Given the description of an element on the screen output the (x, y) to click on. 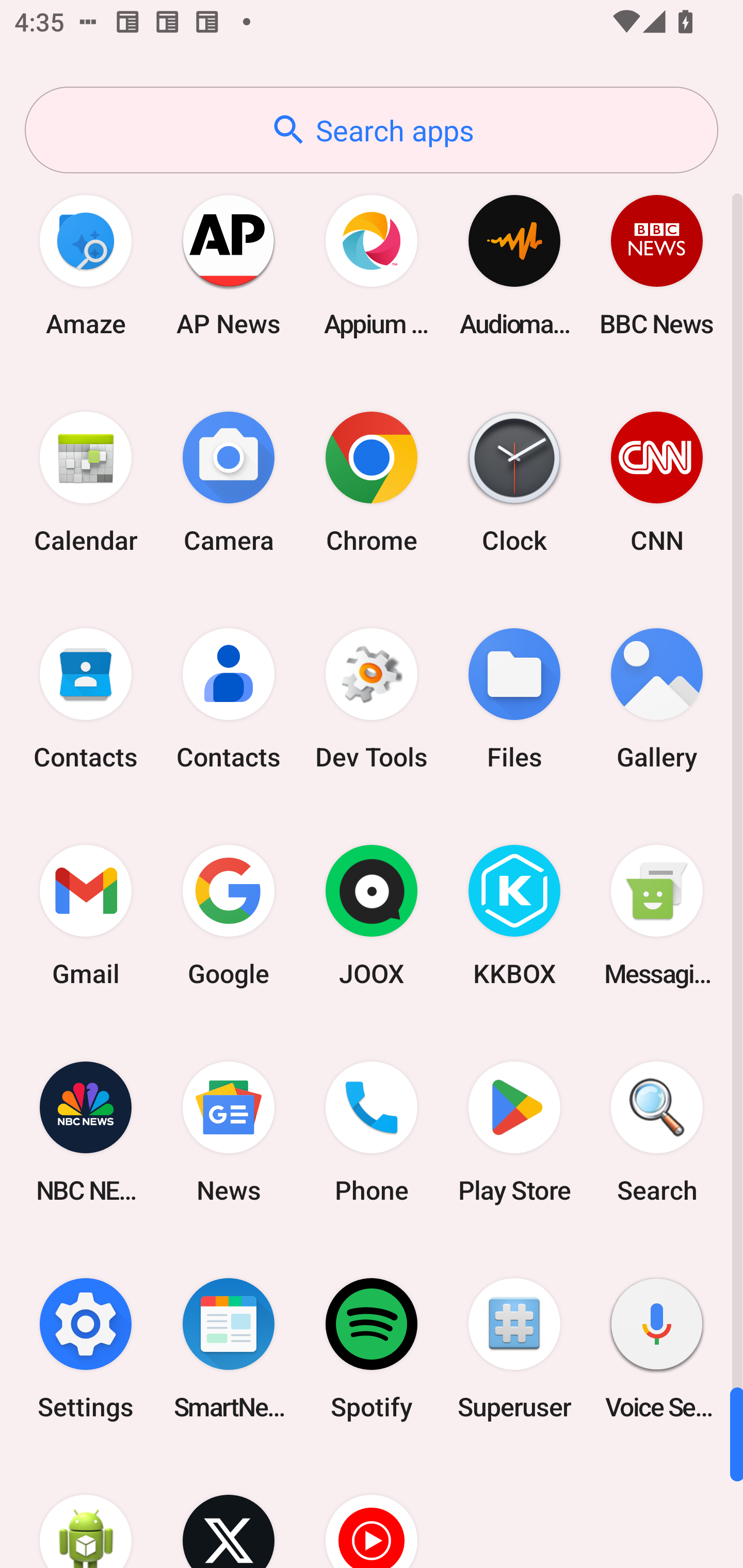
  Search apps (371, 130)
Amaze (85, 264)
AP News (228, 264)
Appium Settings (371, 264)
Audio­mack (514, 264)
BBC News (656, 264)
Calendar (85, 482)
Camera (228, 482)
Chrome (371, 482)
Clock (514, 482)
CNN (656, 482)
Contacts (85, 699)
Contacts (228, 699)
Dev Tools (371, 699)
Files (514, 699)
Gallery (656, 699)
Gmail (85, 915)
Google (228, 915)
JOOX (371, 915)
KKBOX (514, 915)
Messaging (656, 915)
NBC NEWS (85, 1131)
News (228, 1131)
Phone (371, 1131)
Play Store (514, 1131)
Search (656, 1131)
Settings (85, 1348)
SmartNews (228, 1348)
Spotify (371, 1348)
Superuser (514, 1348)
Voice Search (656, 1348)
WebView Browser Tester (85, 1512)
X (228, 1512)
YT Music (371, 1512)
